Given the description of an element on the screen output the (x, y) to click on. 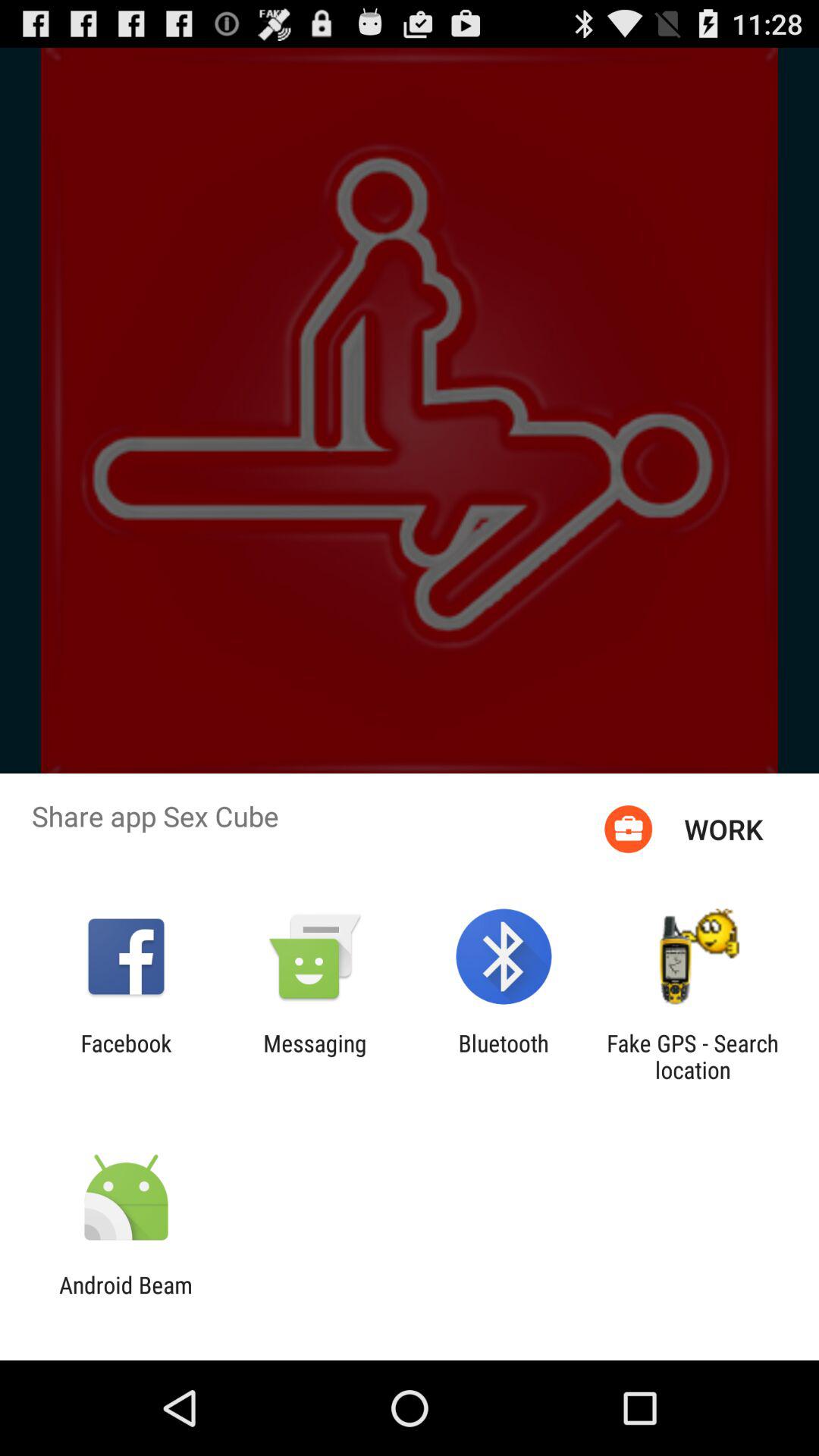
turn off the app next to the facebook item (314, 1056)
